Given the description of an element on the screen output the (x, y) to click on. 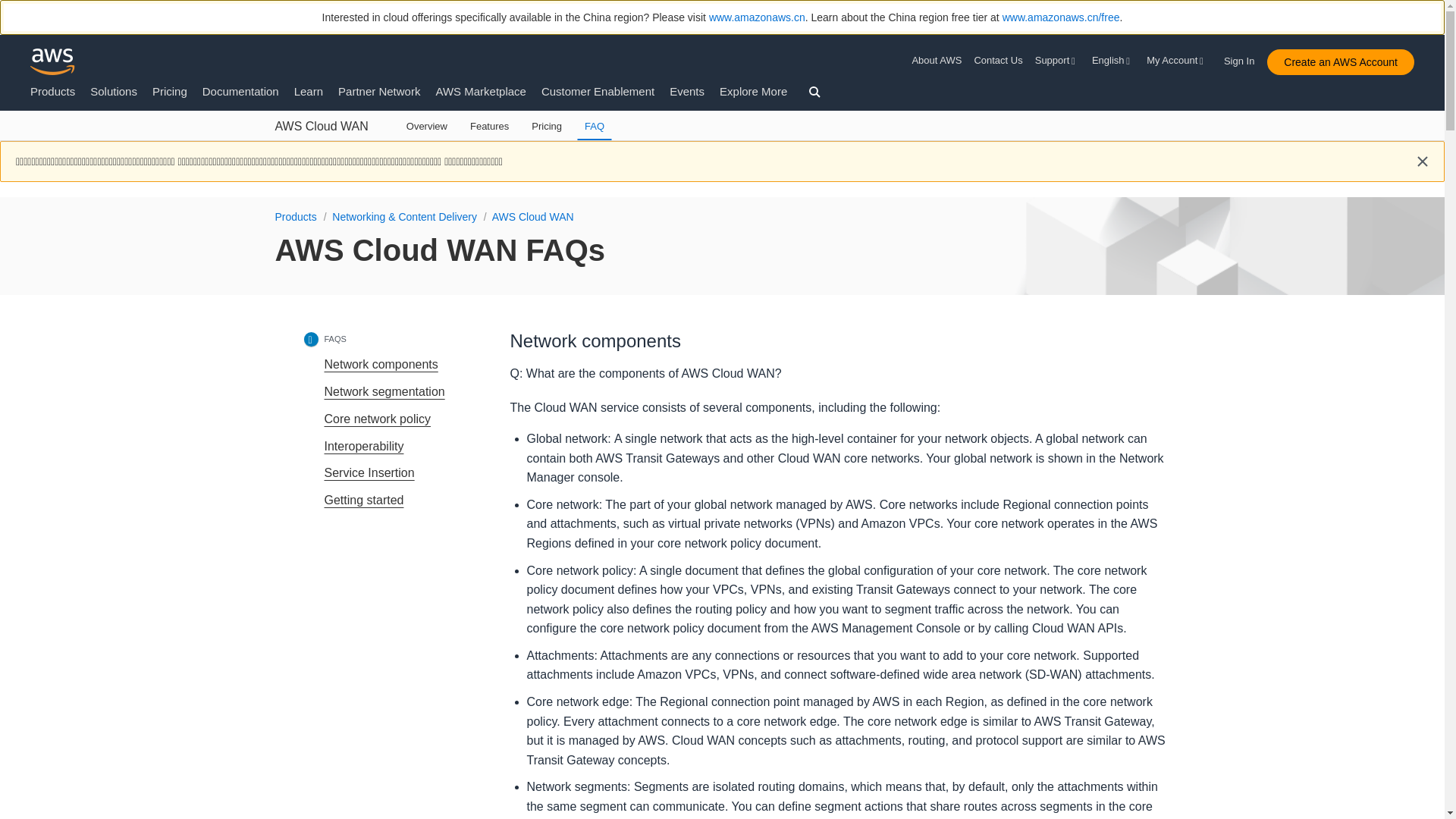
Click here to return to Amazon Web Services homepage (52, 61)
Contact Us (997, 60)
Events (686, 91)
Solutions (113, 91)
Skip to main content (7, 147)
Documentation (240, 91)
Learn (308, 91)
English  (1113, 60)
Support  (1057, 60)
Explore More (753, 91)
Products (52, 91)
Sign In (1243, 58)
AWS Marketplace (480, 91)
My Account  (1177, 60)
About AWS (939, 60)
